Given the description of an element on the screen output the (x, y) to click on. 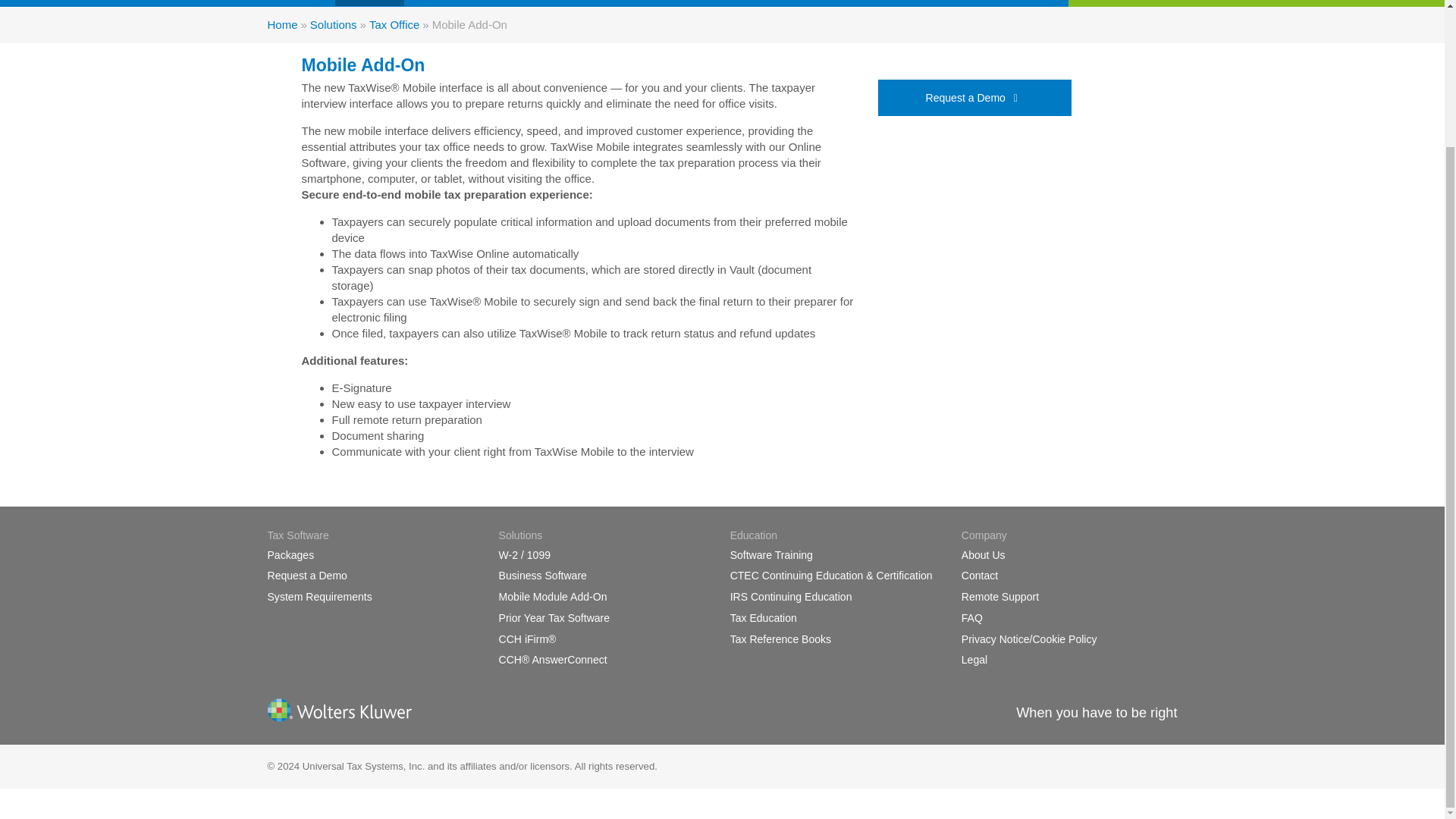
Business Software (542, 575)
Products (300, 2)
Prior Year Tax Software (554, 617)
System Requirements (318, 596)
Education (440, 2)
Home (281, 24)
Tax Education (763, 617)
Request a Demo (306, 575)
Solutions (369, 2)
About Us (983, 554)
